Given the description of an element on the screen output the (x, y) to click on. 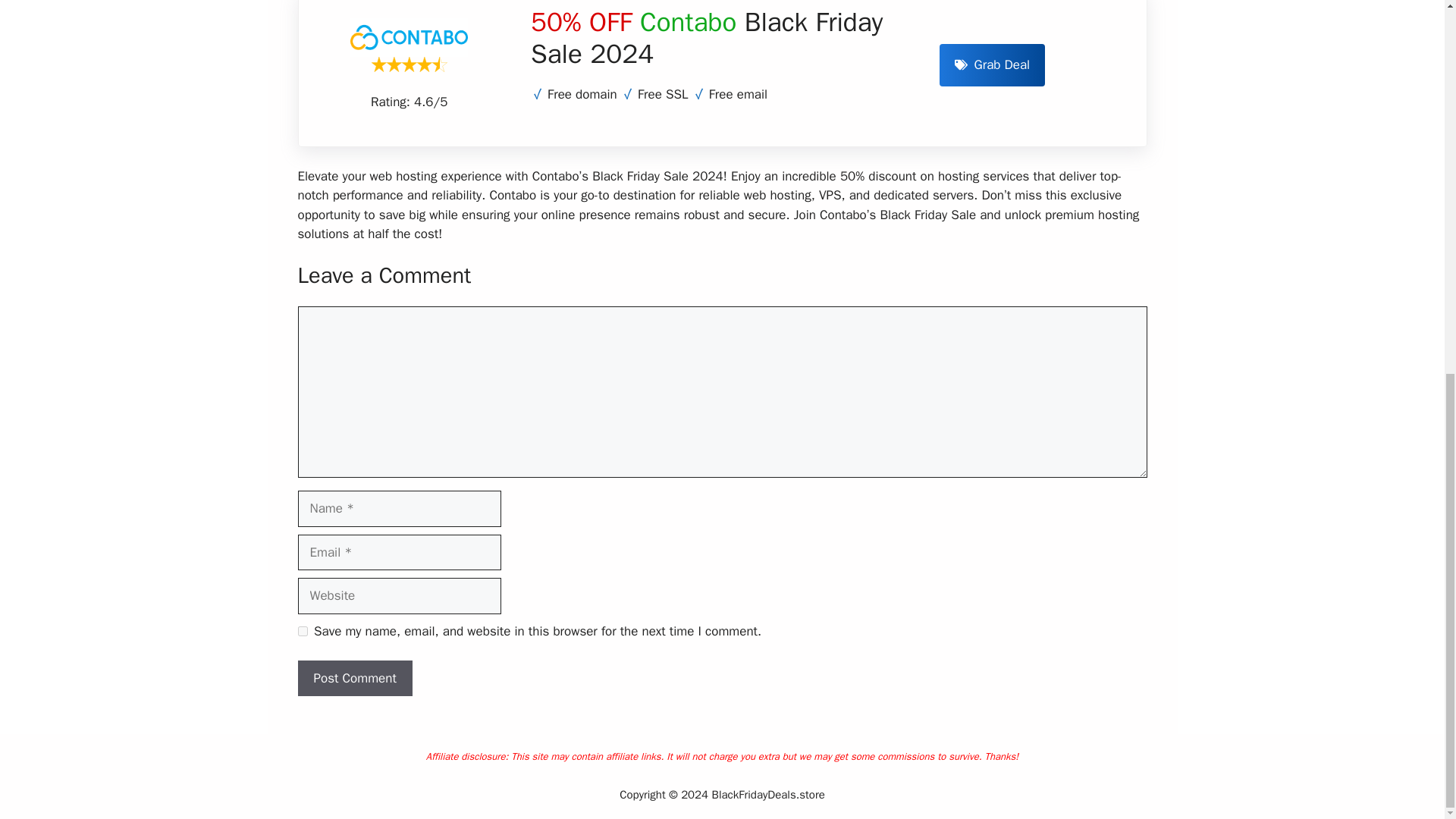
Post Comment (354, 678)
Grab Deal (992, 65)
yes (302, 631)
